Given the description of an element on the screen output the (x, y) to click on. 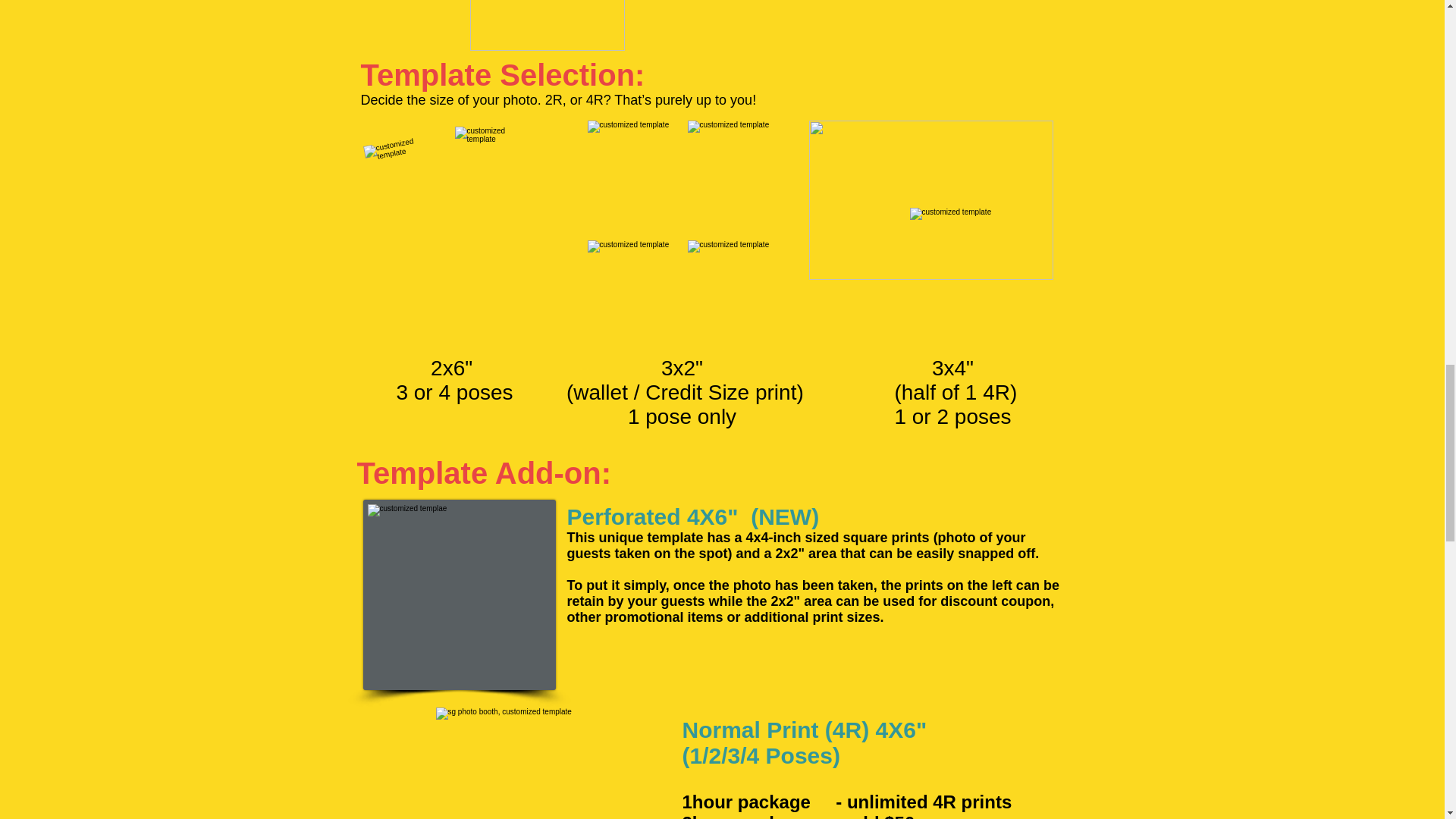
Photo Booth (984, 276)
Photo Booth (930, 200)
photo booth (534, 763)
Photo Booth template (458, 594)
